Given the description of an element on the screen output the (x, y) to click on. 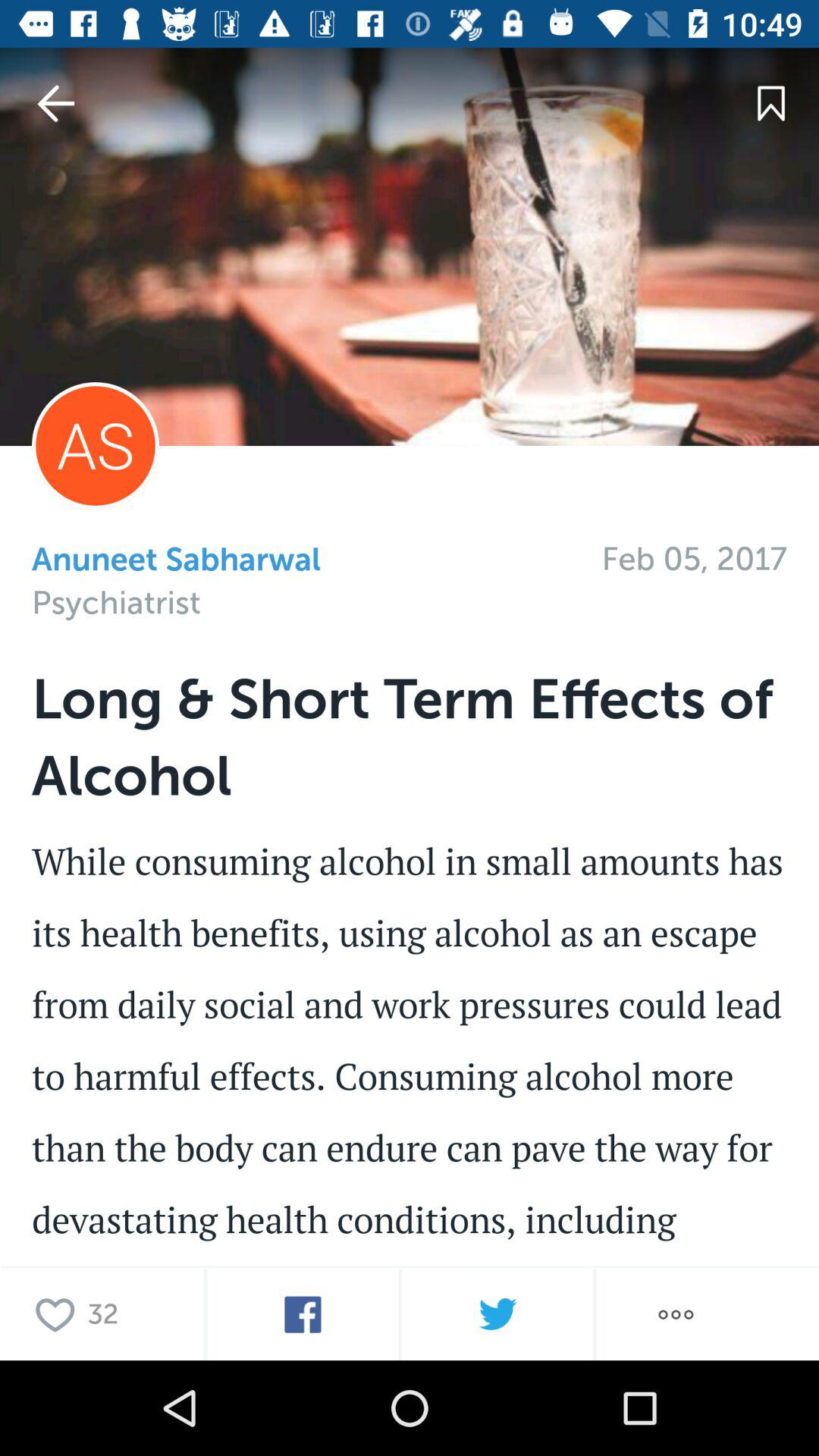
open twitter (497, 1314)
